Given the description of an element on the screen output the (x, y) to click on. 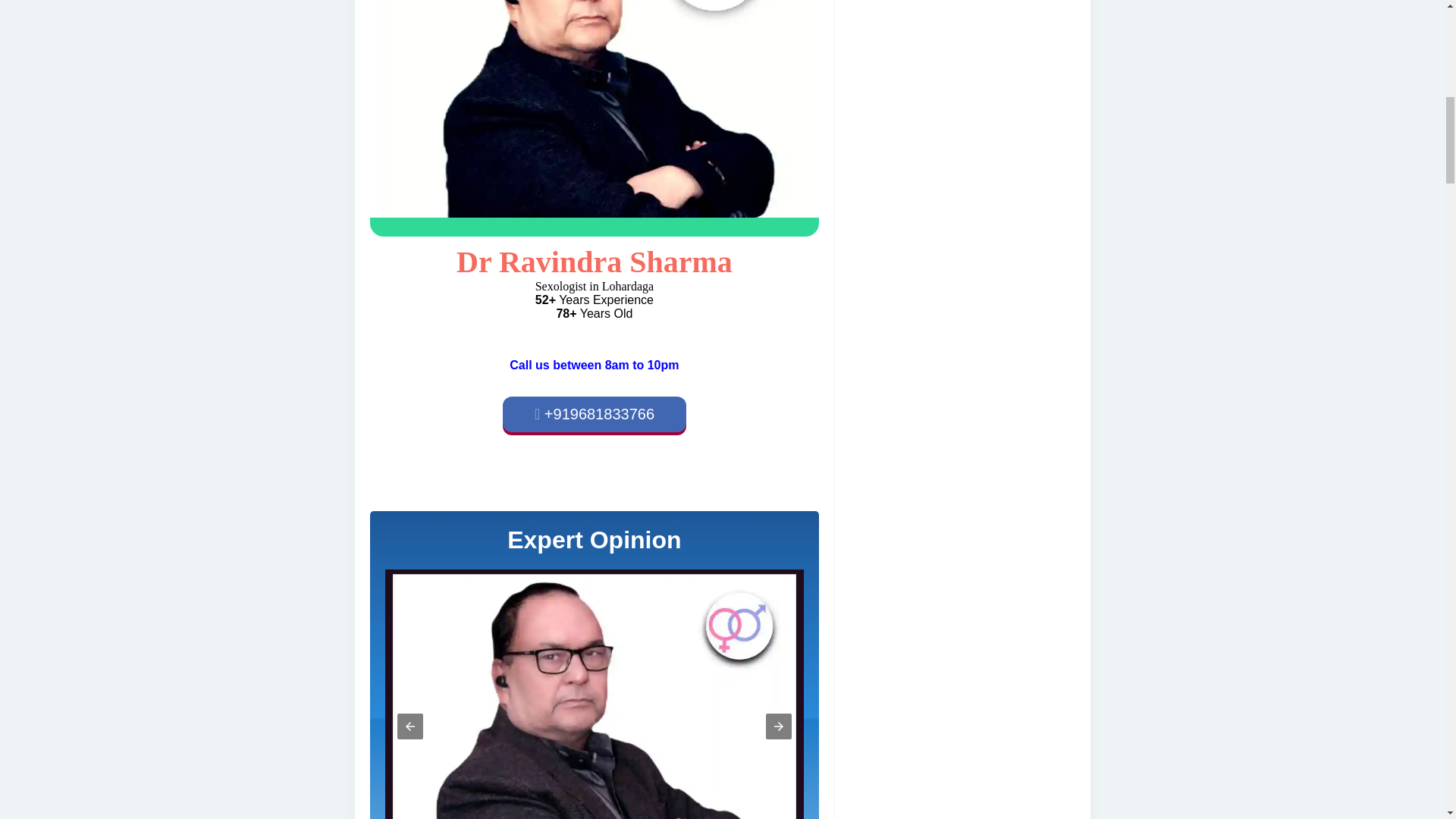
Sexologist in Lohardaga (594, 118)
Sexologist in Lohardaga (594, 109)
Dr Ravindra Sharma (594, 261)
